Given the description of an element on the screen output the (x, y) to click on. 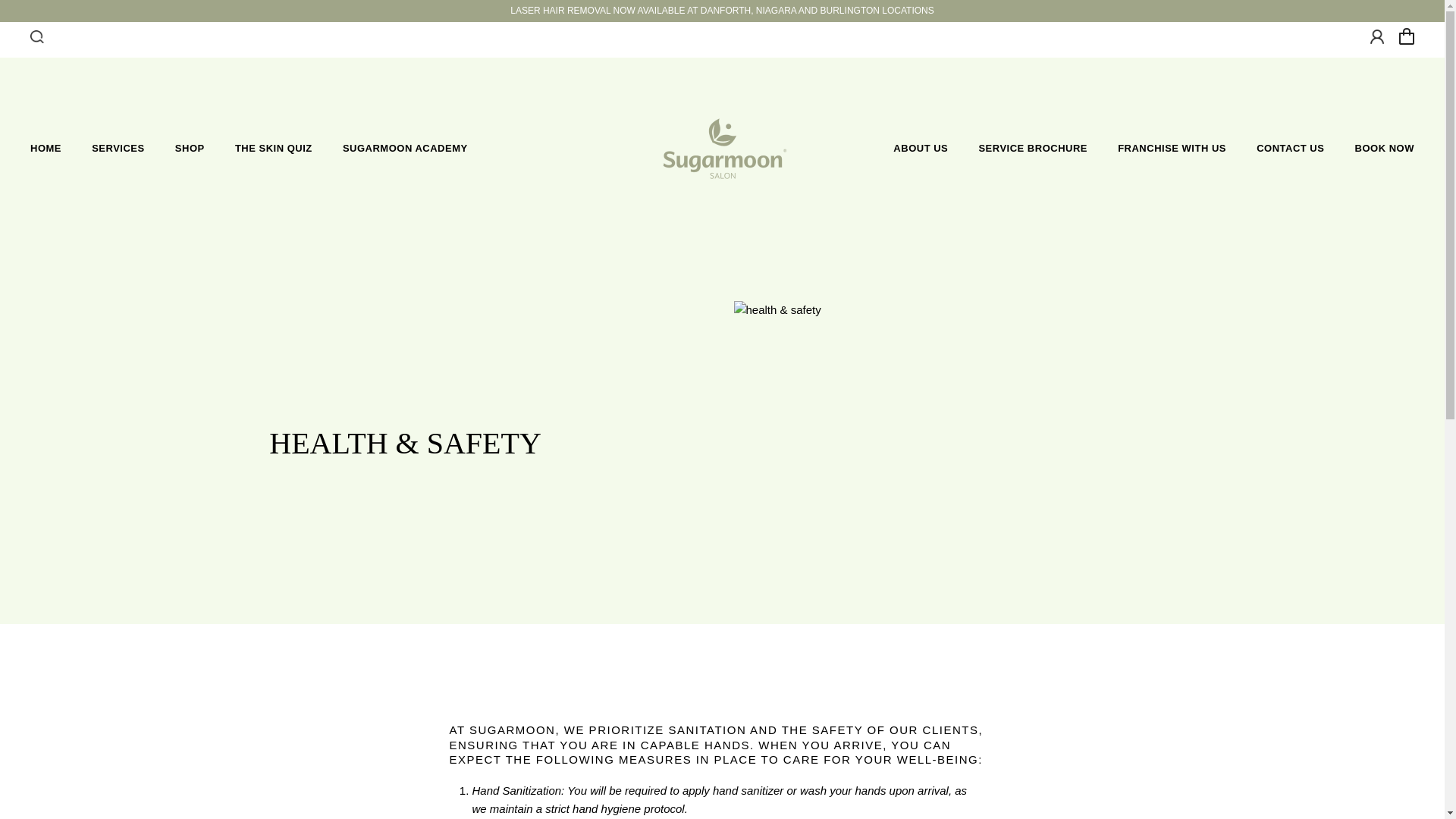
HOME (45, 148)
SHOP (189, 148)
sugarmoonsalon (721, 148)
SERVICES (118, 148)
